Given the description of an element on the screen output the (x, y) to click on. 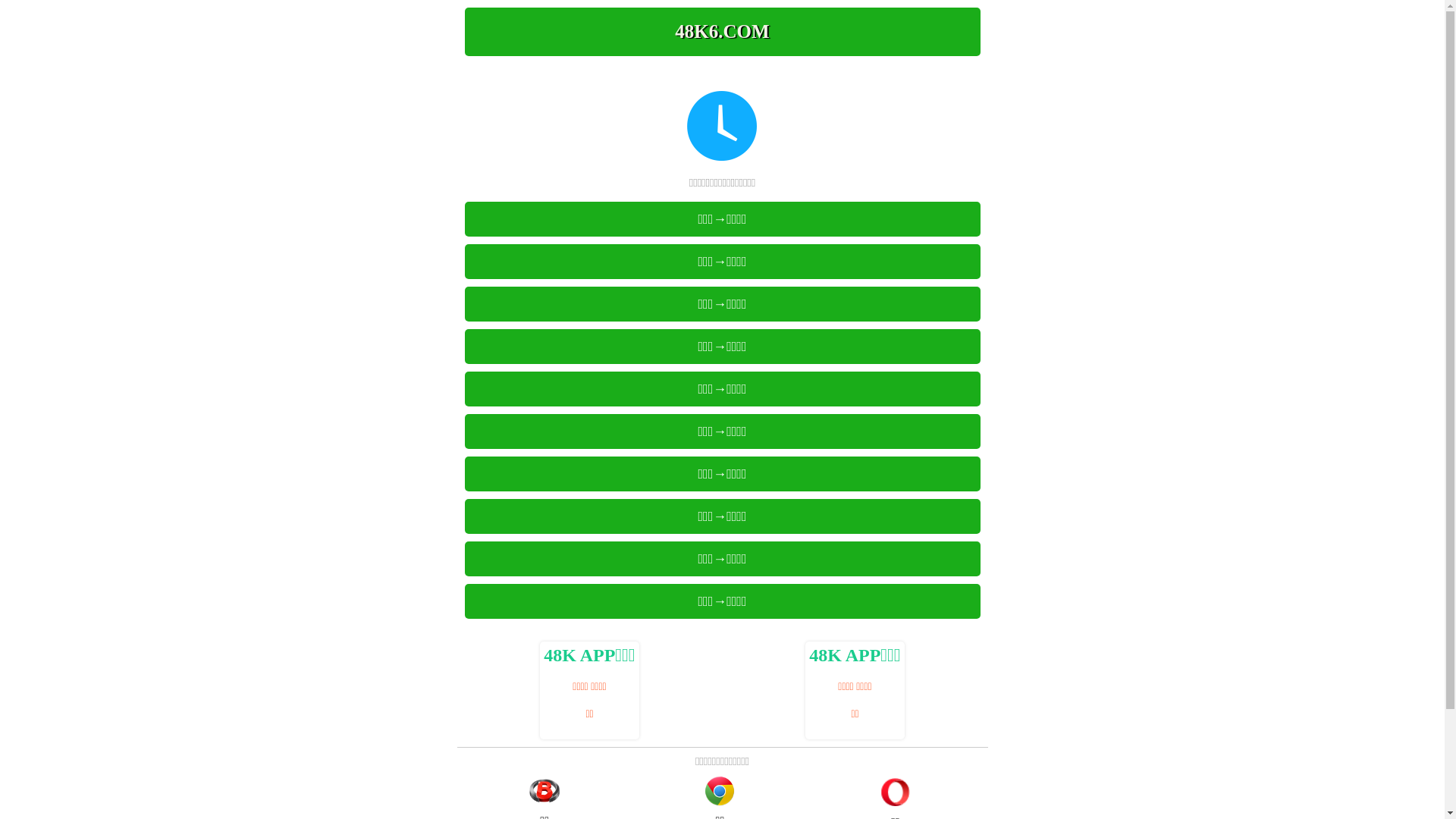
48K6.COM Element type: text (721, 31)
